Given the description of an element on the screen output the (x, y) to click on. 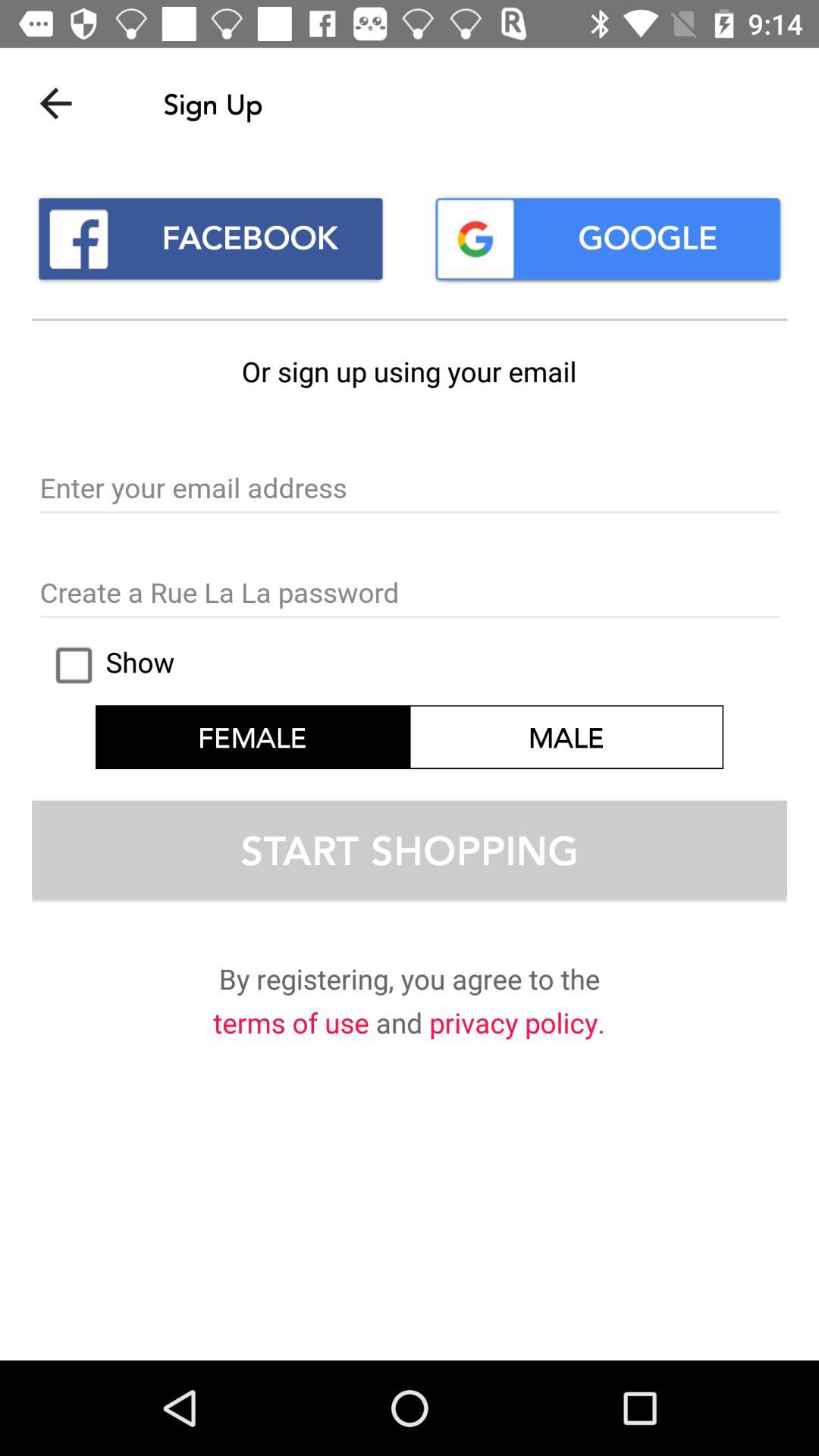
create password (409, 593)
